Given the description of an element on the screen output the (x, y) to click on. 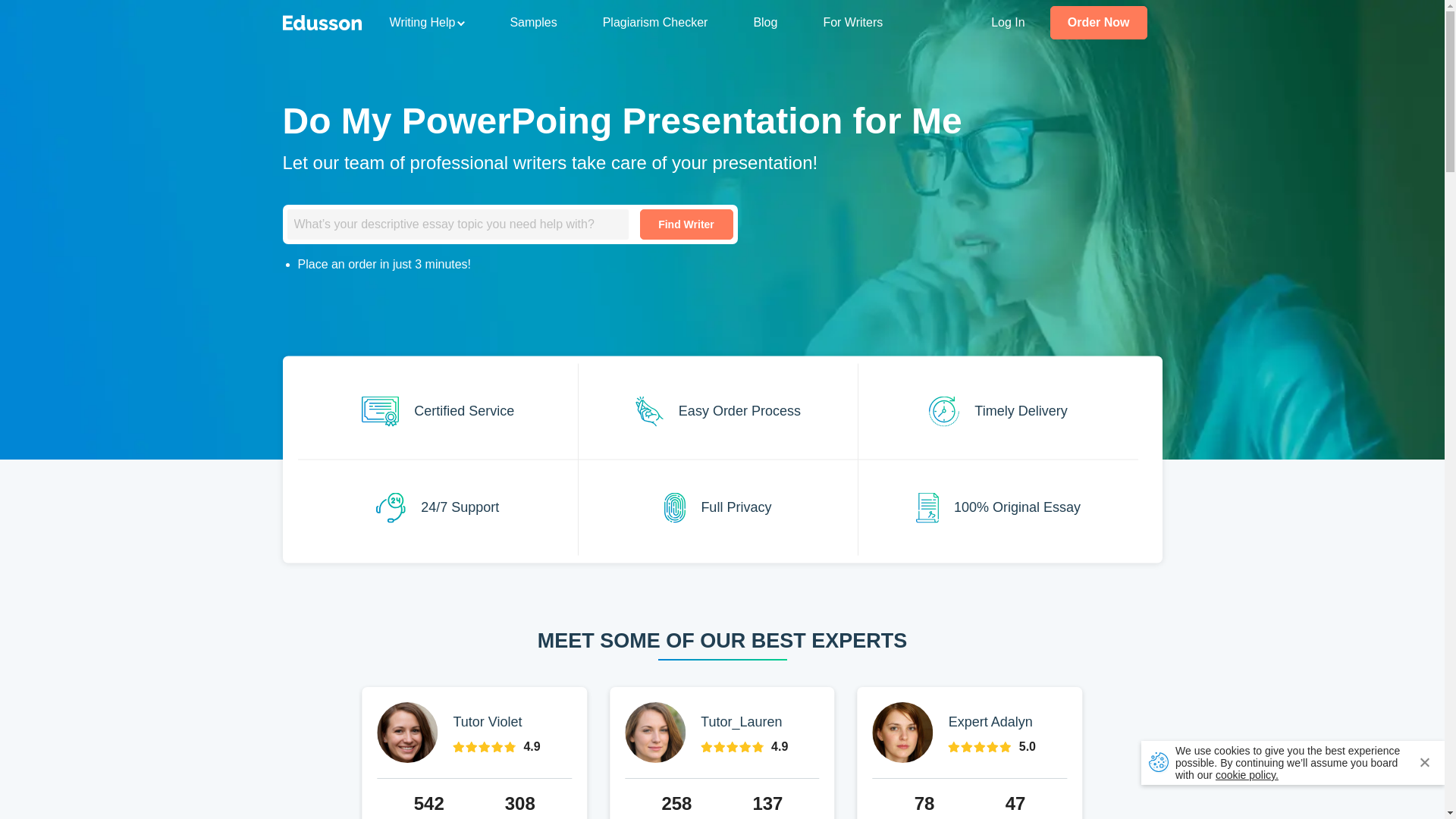
Edusson.com - essay writing service (321, 21)
For Writers (852, 22)
Find Writer (686, 224)
Samples (532, 22)
Order Now (1098, 22)
Blog (764, 22)
Log In (1008, 22)
Plagiarism Checker (654, 22)
